Given the description of an element on the screen output the (x, y) to click on. 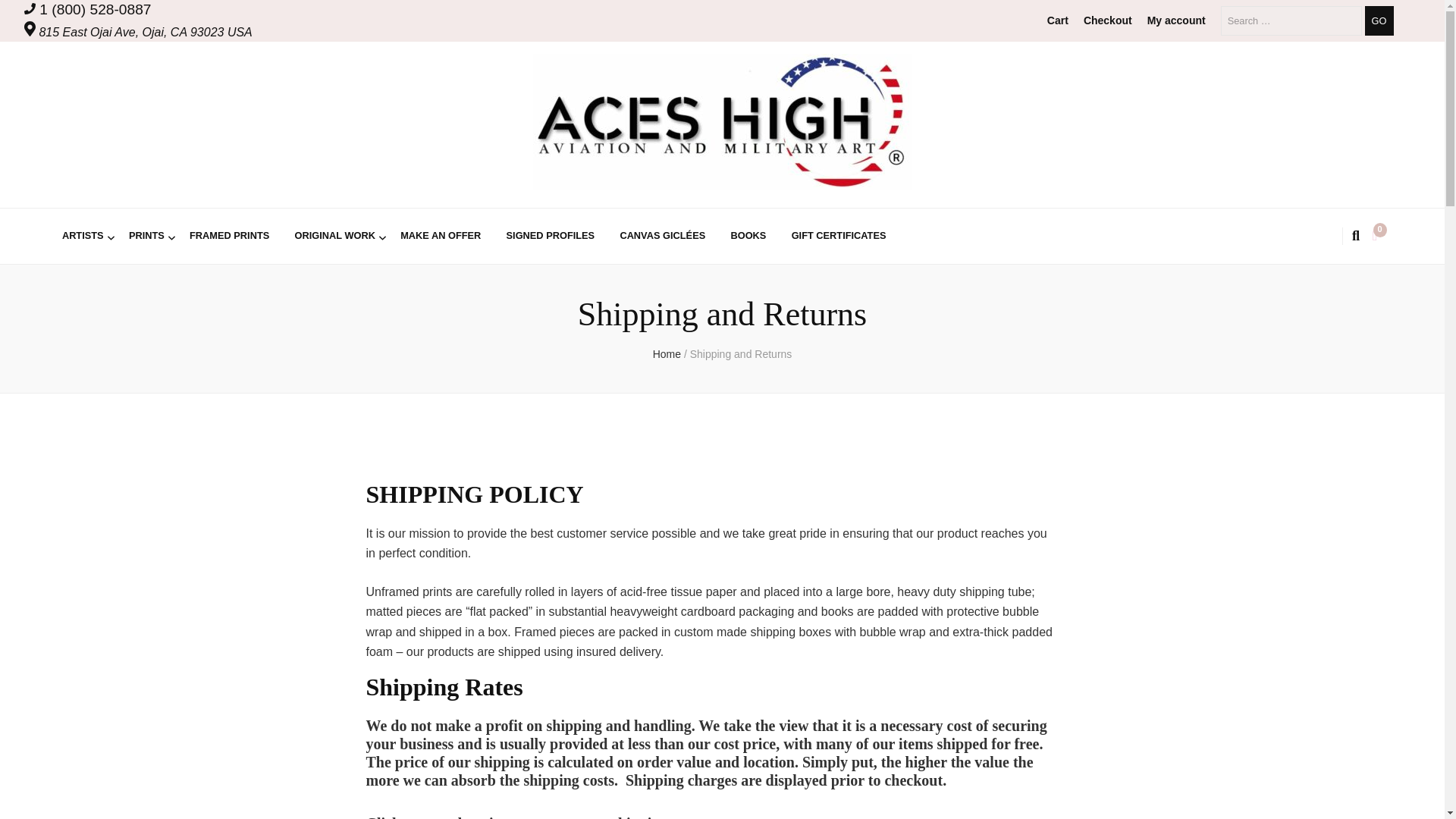
SIGNED PROFILES (550, 236)
MAKE AN OFFER (440, 236)
ORIGINAL WORK (334, 236)
BOOKS (747, 236)
GIFT CERTIFICATES (839, 236)
 815 East Ojai Ave, Ojai, CA 93023 USA (137, 31)
Checkout (1107, 20)
Go (1379, 20)
Go (1379, 20)
FRAMED PRINTS (229, 236)
